Given the description of an element on the screen output the (x, y) to click on. 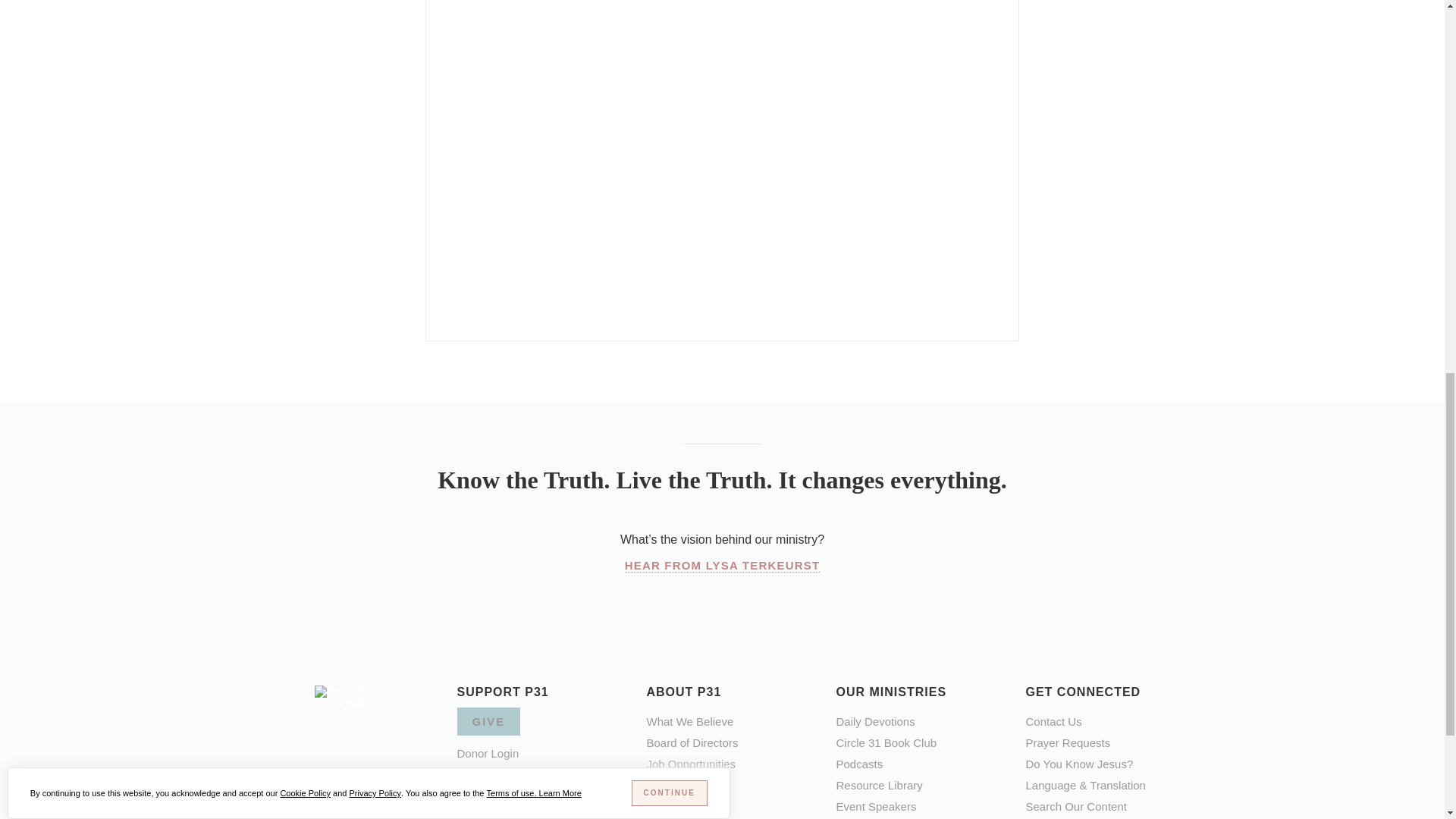
Prayer Wall (1067, 742)
